Given the description of an element on the screen output the (x, y) to click on. 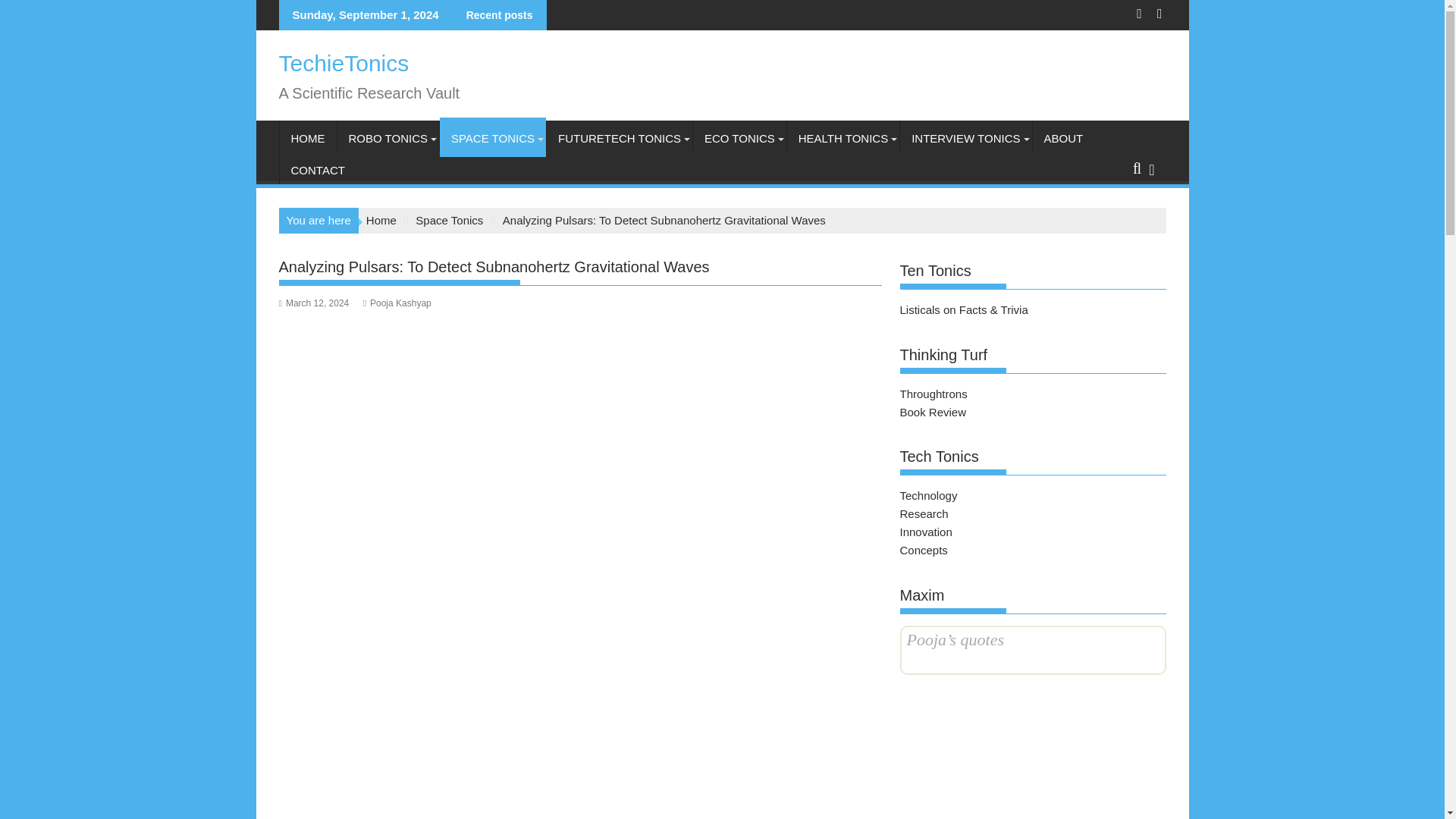
ABOUT (1063, 138)
FUTURETECH TONICS (620, 138)
HOME (307, 138)
ROBO TONICS (387, 138)
INTERVIEW TONICS (964, 138)
TechieTonics (344, 63)
SPACE TONICS (492, 138)
ECO TONICS (739, 138)
CONTACT (317, 170)
HEALTH TONICS (843, 138)
